Given the description of an element on the screen output the (x, y) to click on. 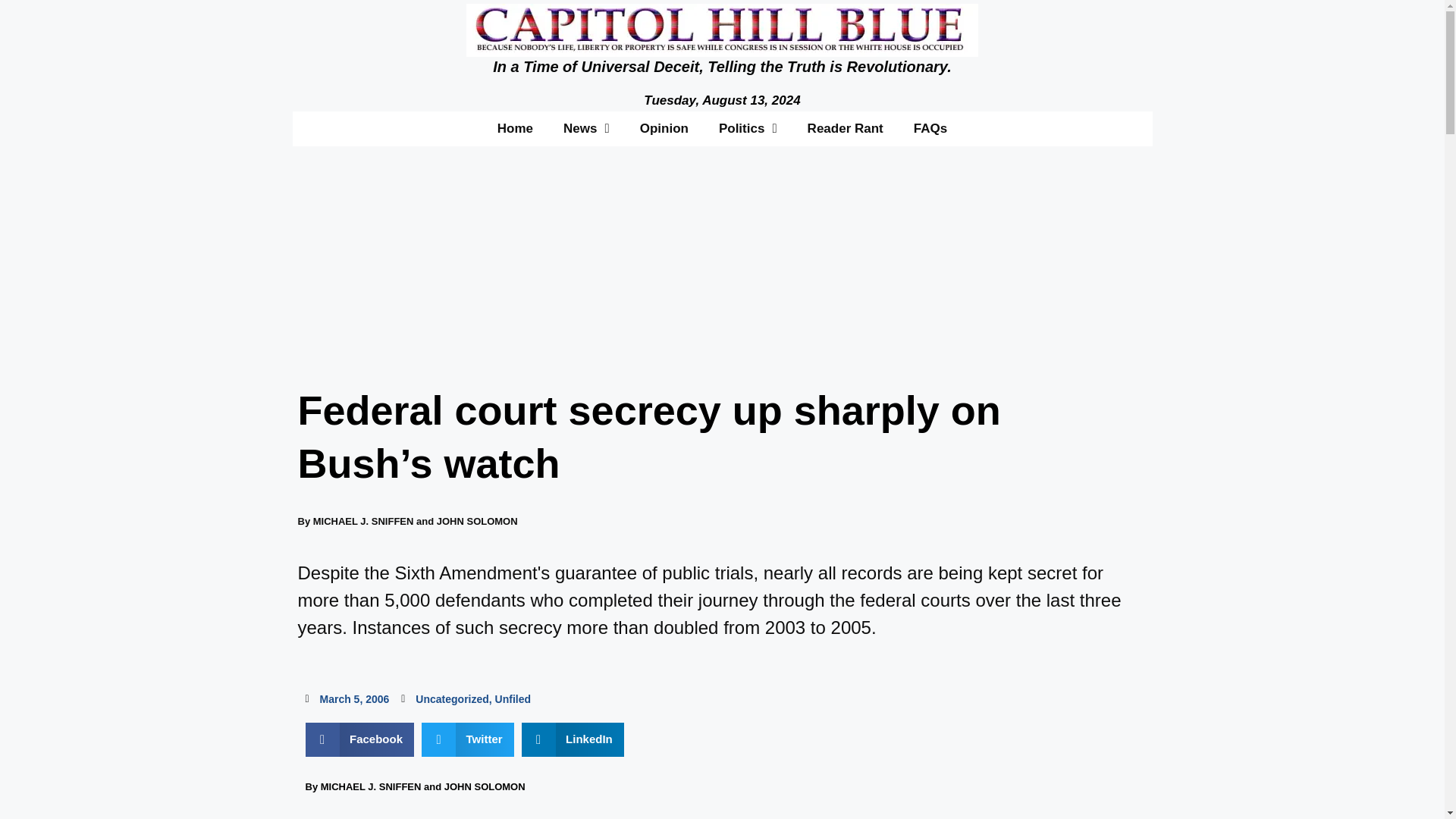
News (586, 127)
Uncategorized (450, 698)
Home (514, 127)
Politics (747, 127)
March 5, 2006 (346, 699)
Advertisement (985, 772)
Reader Rant (845, 127)
FAQs (930, 127)
Opinion (663, 127)
